Given the description of an element on the screen output the (x, y) to click on. 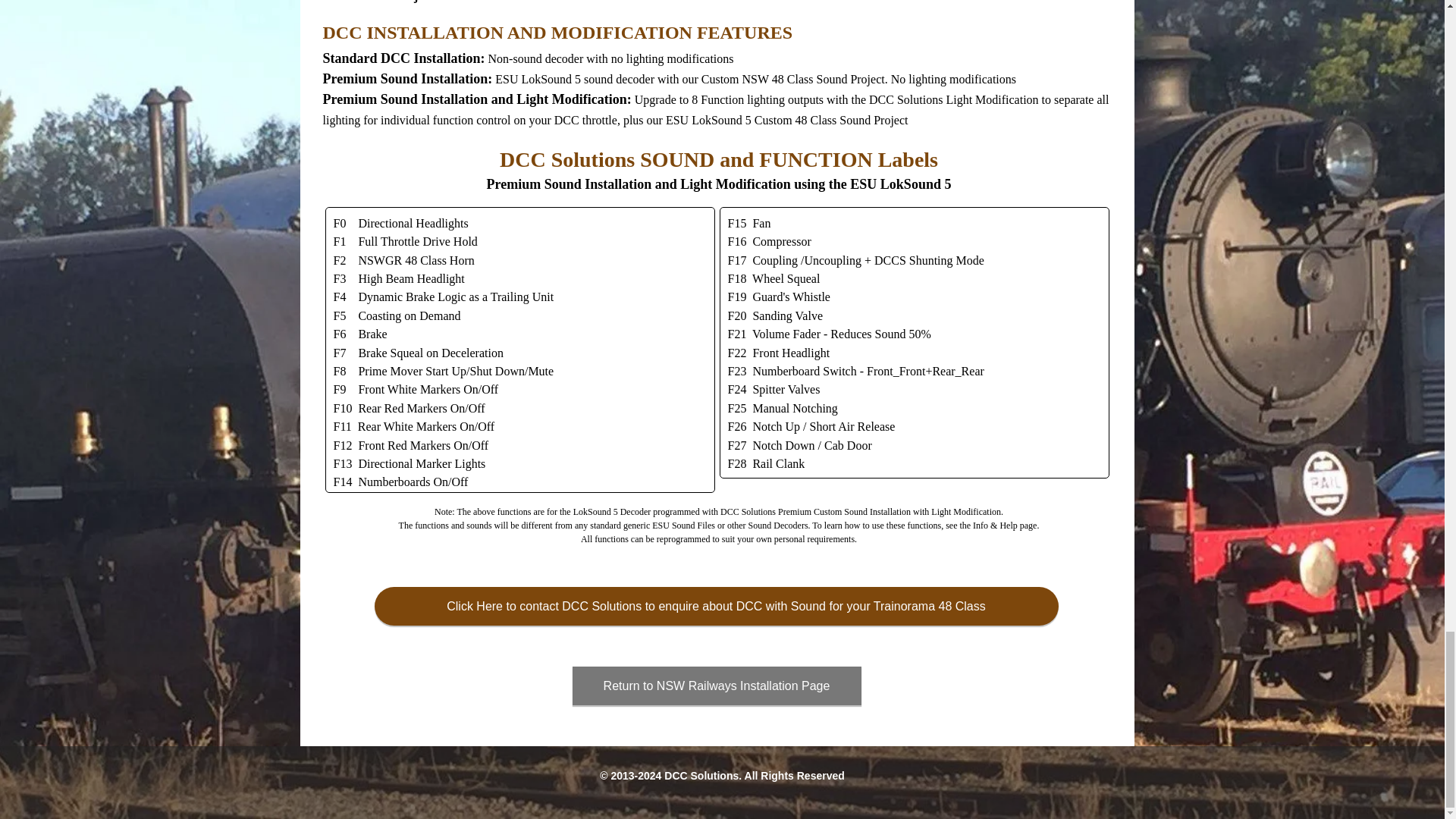
Return to NSW Railways Installation Page (716, 685)
